Given the description of an element on the screen output the (x, y) to click on. 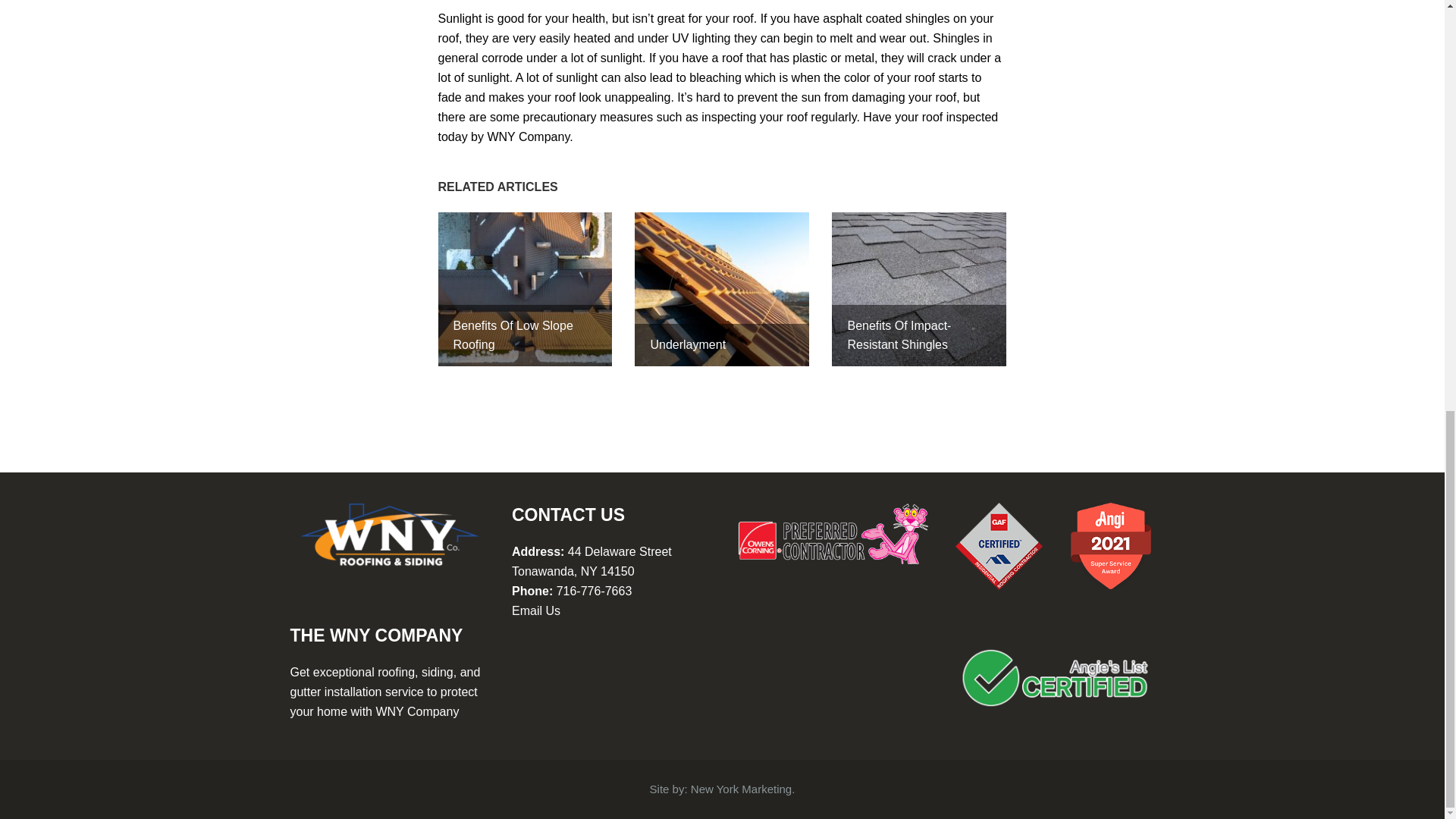
Underlayment (721, 289)
Benefits Of Low Slope Roofing (525, 289)
New York Marketing (741, 788)
716-776-7663 (593, 590)
Email Us (536, 610)
Underlayment (721, 289)
New York Marketing (741, 788)
Benefits Of Impact-Resistant Shingles (918, 289)
Benefits Of Low Slope Roofing (525, 289)
Benefits Of Impact-Resistant Shingles (918, 289)
